Given the description of an element on the screen output the (x, y) to click on. 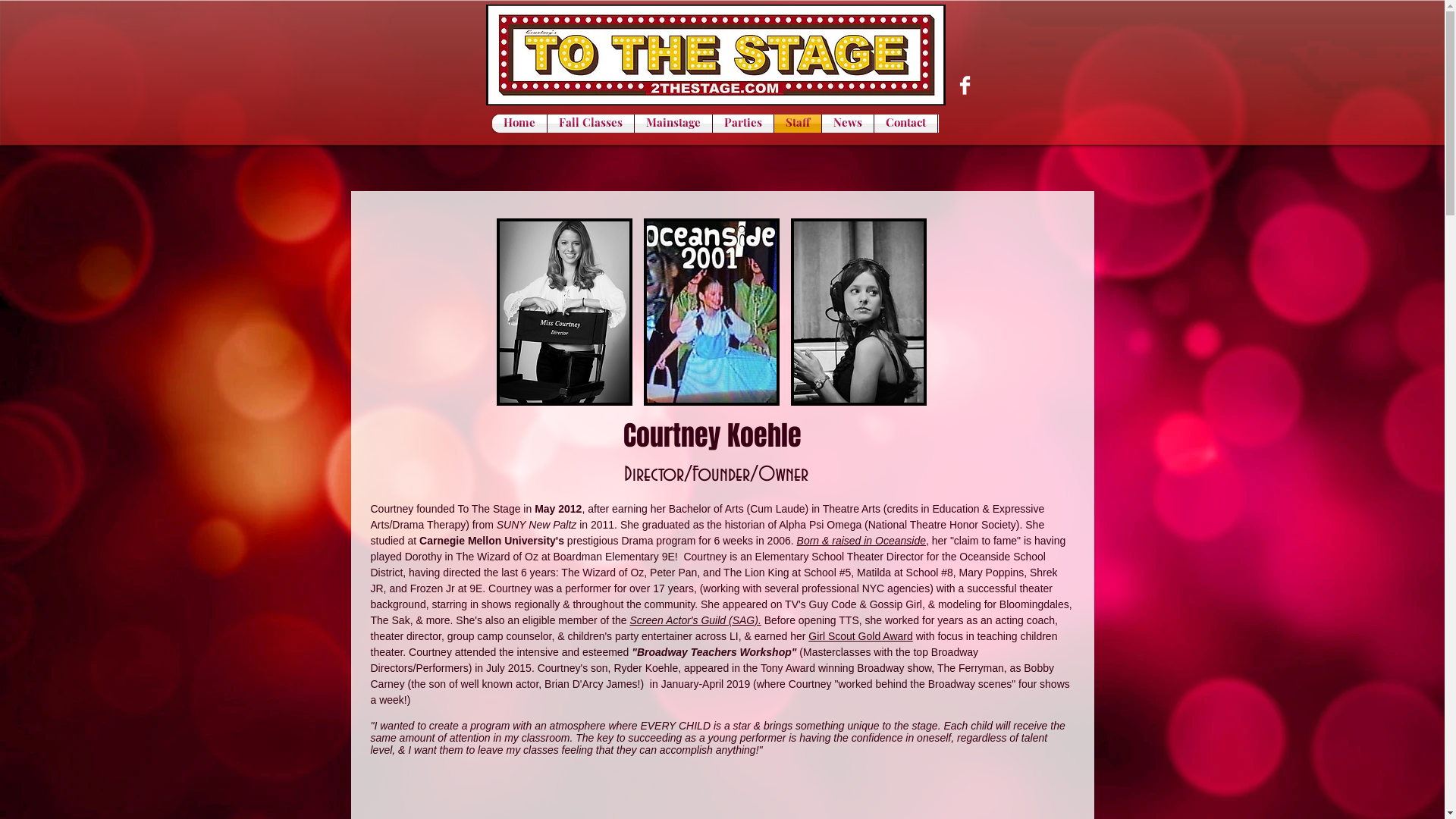
Parties Element type: text (742, 123)
Staff Element type: text (796, 123)
logotts.jpg Element type: hover (714, 54)
Mainstage Element type: text (672, 123)
Fall Classes Element type: text (590, 123)
Contact Element type: text (904, 123)
Home Element type: text (518, 123)
News Element type: text (847, 123)
